Given the description of an element on the screen output the (x, y) to click on. 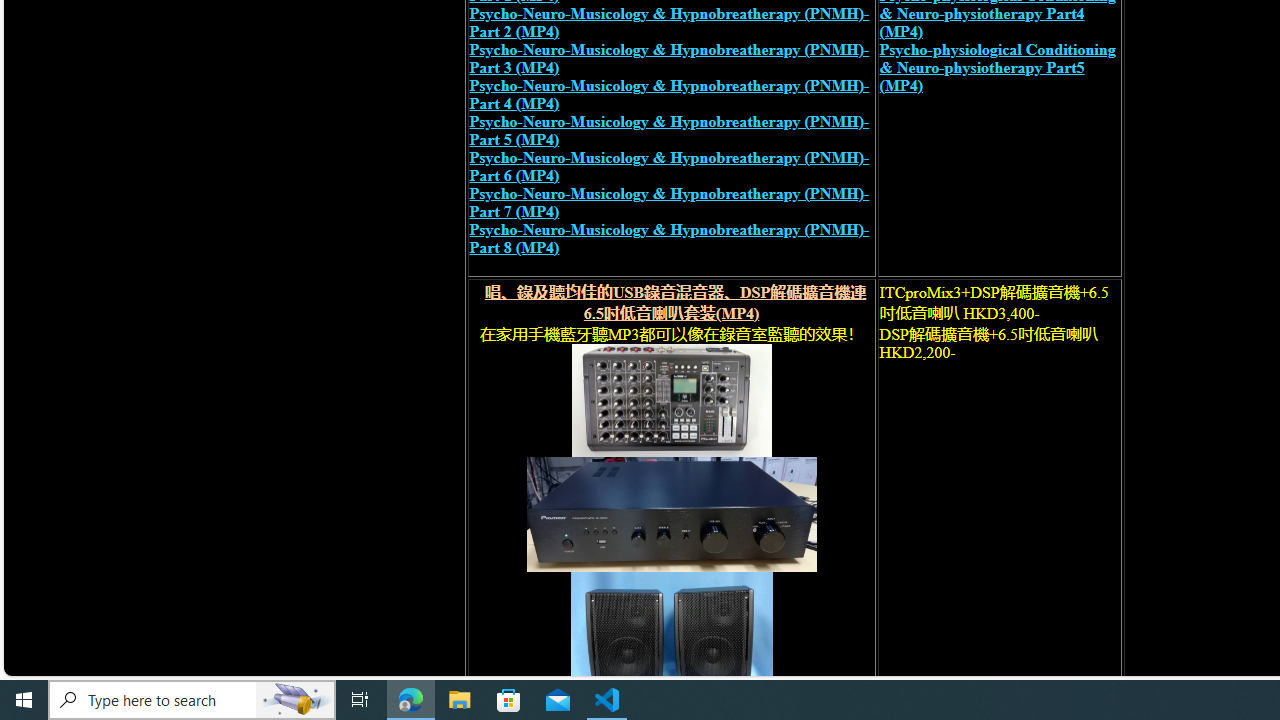
recording mixer (670, 400)
